Given the description of an element on the screen output the (x, y) to click on. 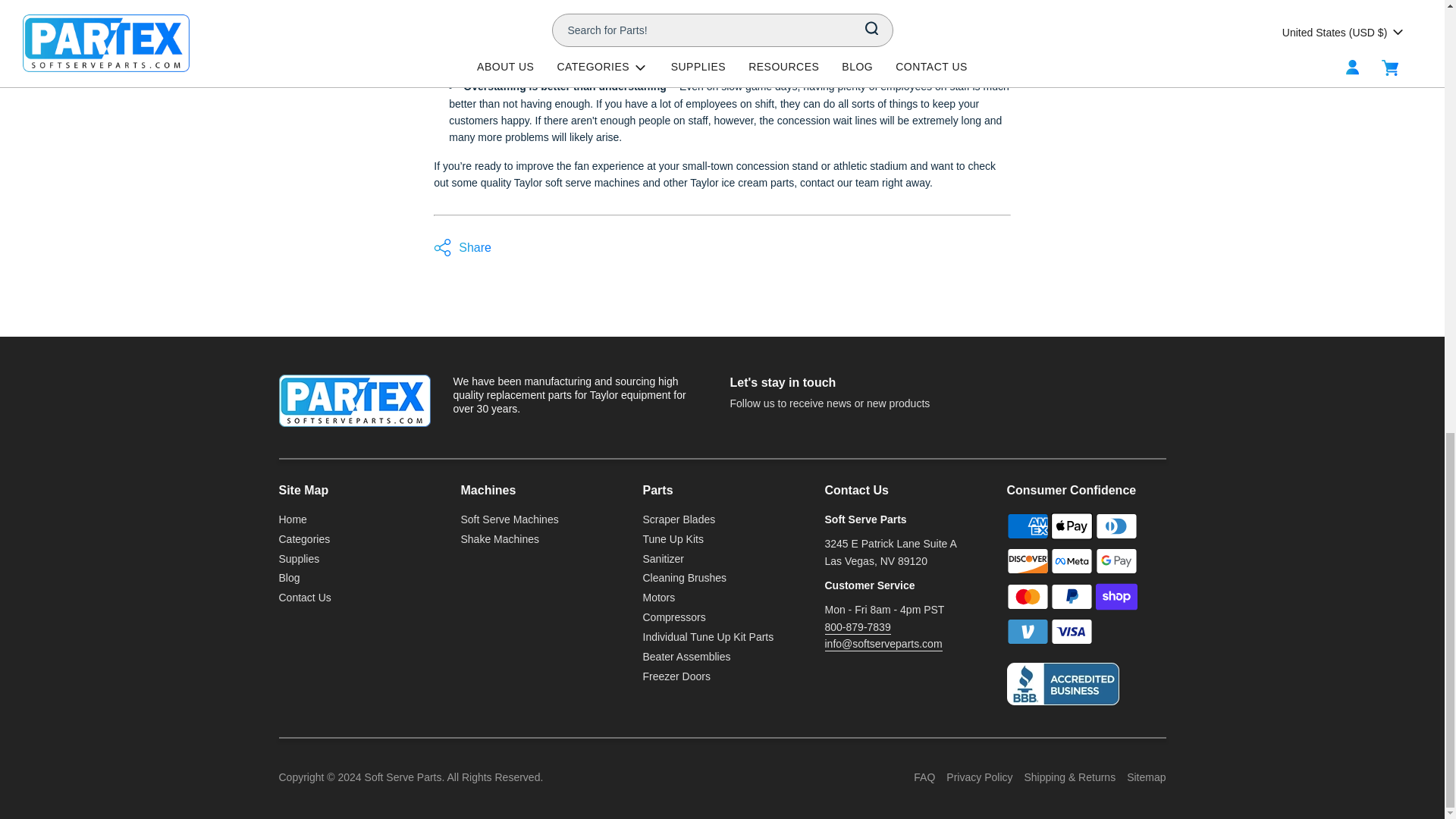
Apple Pay (1072, 526)
Visa (1072, 631)
Google Pay (1116, 561)
Discover (1027, 561)
PayPal (1072, 596)
Shop Pay (1116, 596)
Venmo (1027, 631)
Mastercard (1027, 596)
American Express (1027, 526)
Diners Club (1116, 526)
